Given the description of an element on the screen output the (x, y) to click on. 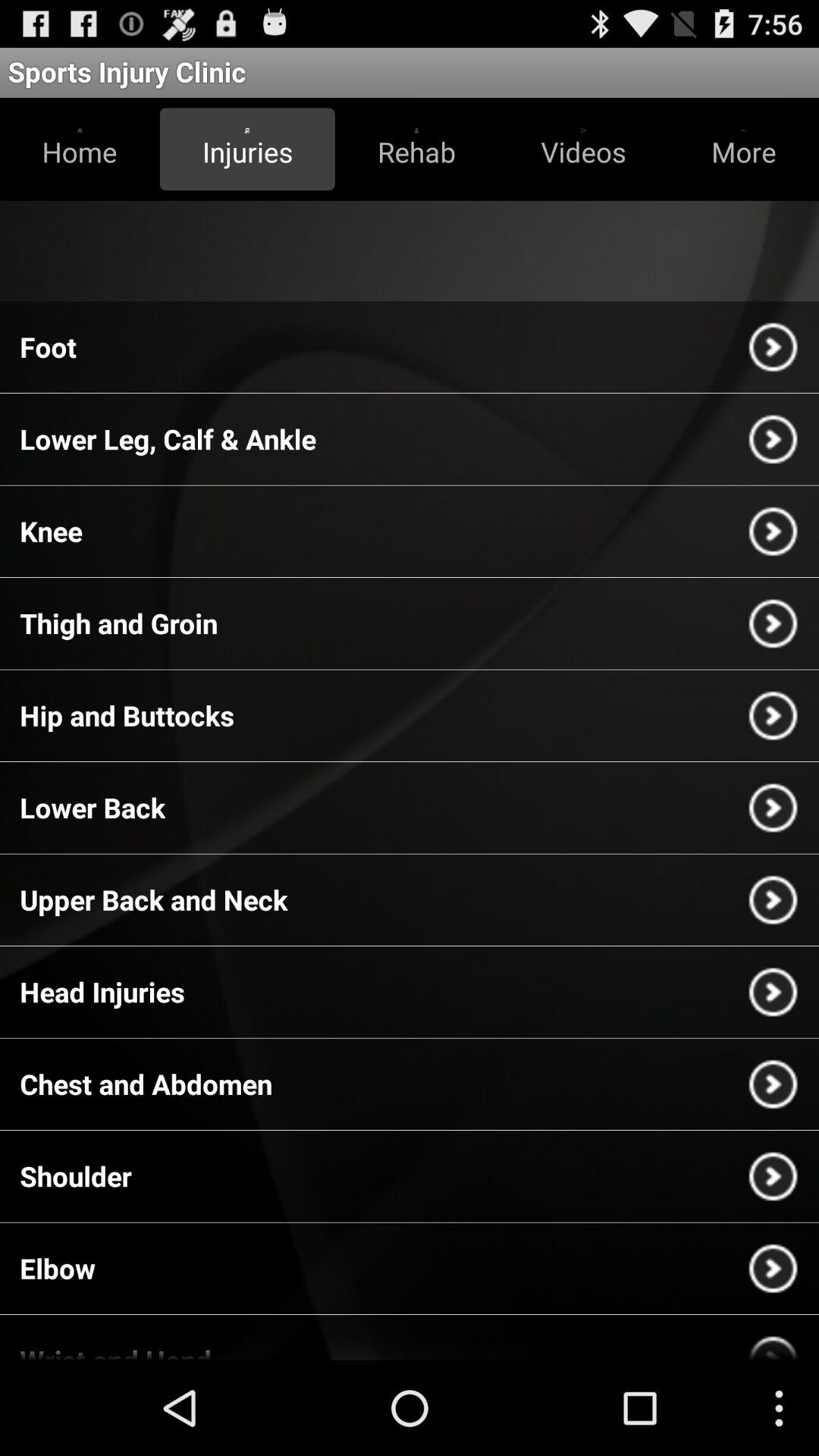
swipe to the head injuries icon (101, 991)
